Given the description of an element on the screen output the (x, y) to click on. 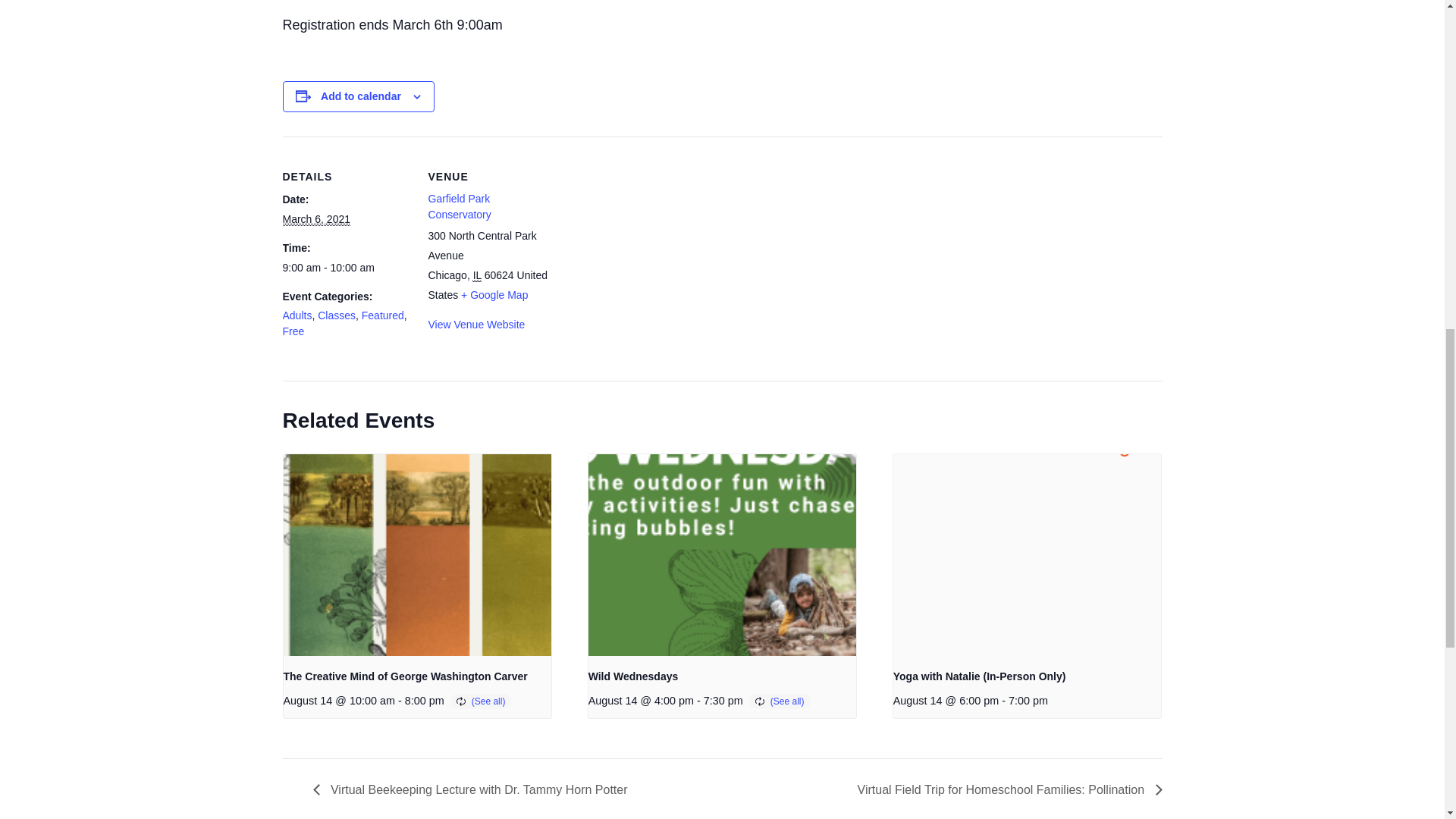
2021-03-06 (316, 219)
Add to calendar (360, 96)
2021-03-06 (345, 268)
Click to view a Google Map (494, 295)
